Given the description of an element on the screen output the (x, y) to click on. 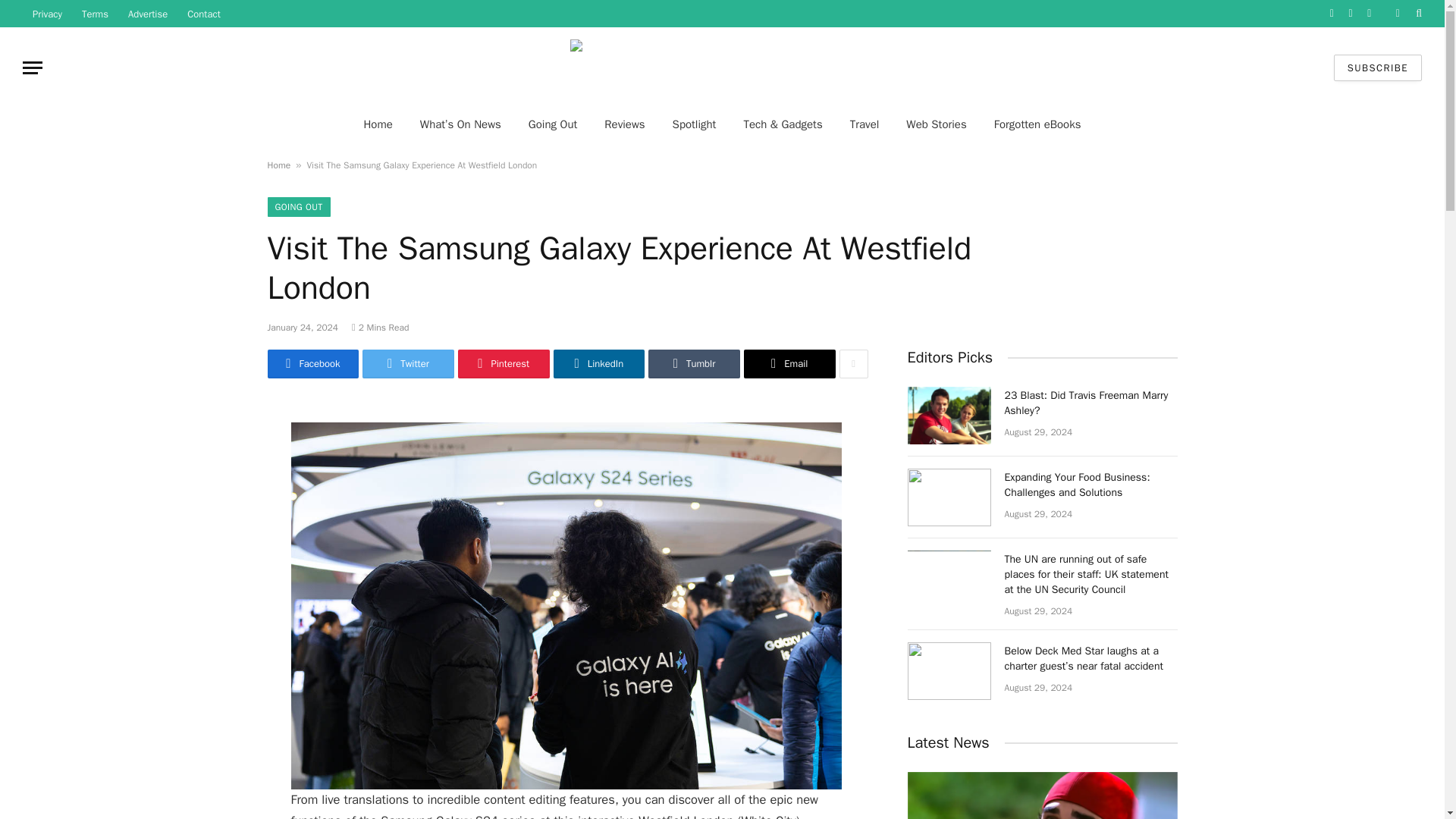
Share on Pinterest (504, 363)
Contact (203, 13)
London Reviews (722, 67)
Travel (864, 123)
Reviews (624, 123)
Web Stories (935, 123)
Going Out (553, 123)
SUBSCRIBE (1377, 67)
Terms (94, 13)
Spotlight (694, 123)
